Given the description of an element on the screen output the (x, y) to click on. 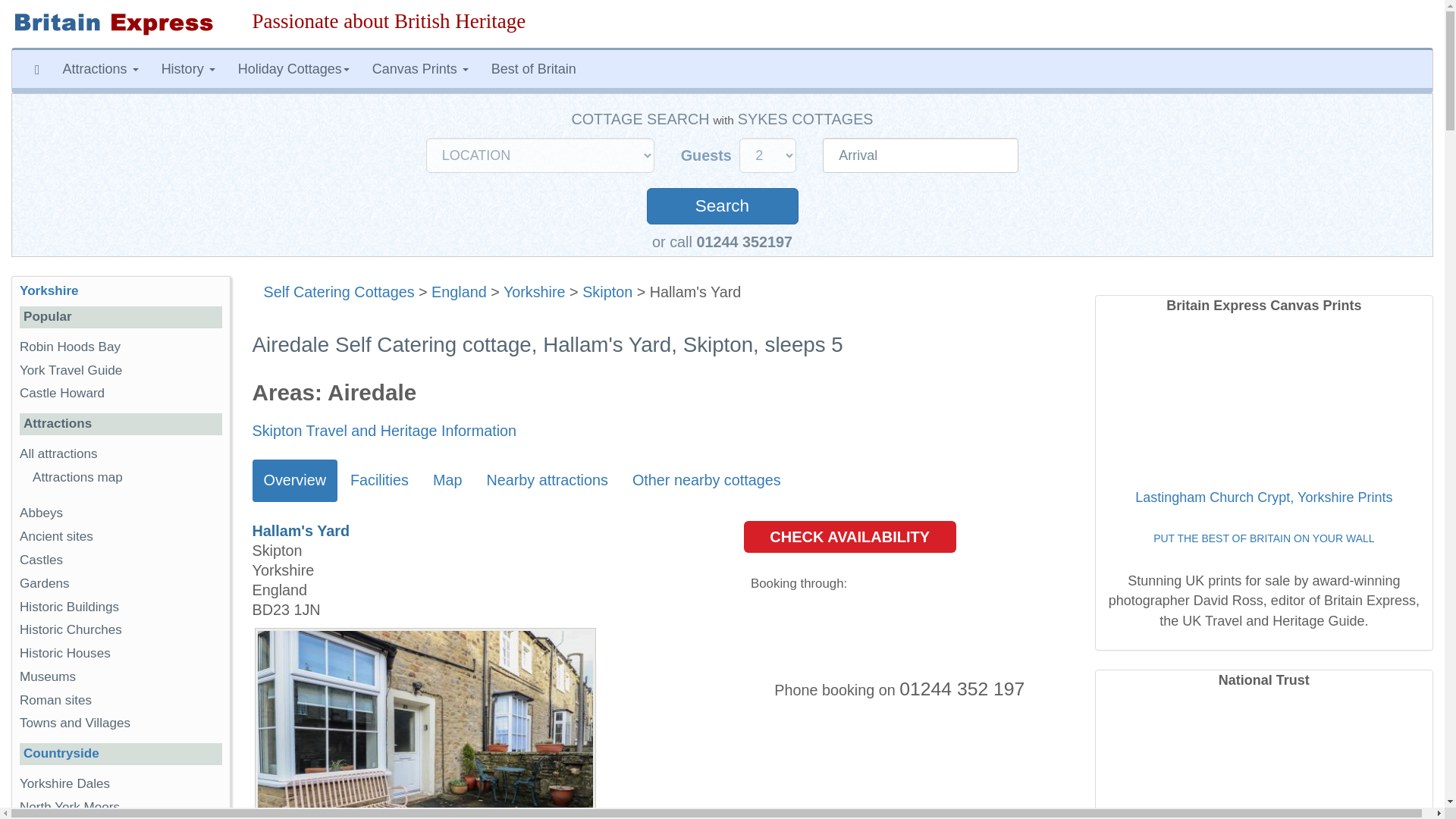
Facilities (379, 480)
Skipton Travel and Heritage Information (383, 430)
Overview (293, 480)
Self Catering Cottages (338, 291)
History (188, 68)
Yorkshire (534, 291)
Best of Britain (534, 68)
Skipton (606, 291)
England (458, 291)
Holiday Cottages (294, 68)
